Given the description of an element on the screen output the (x, y) to click on. 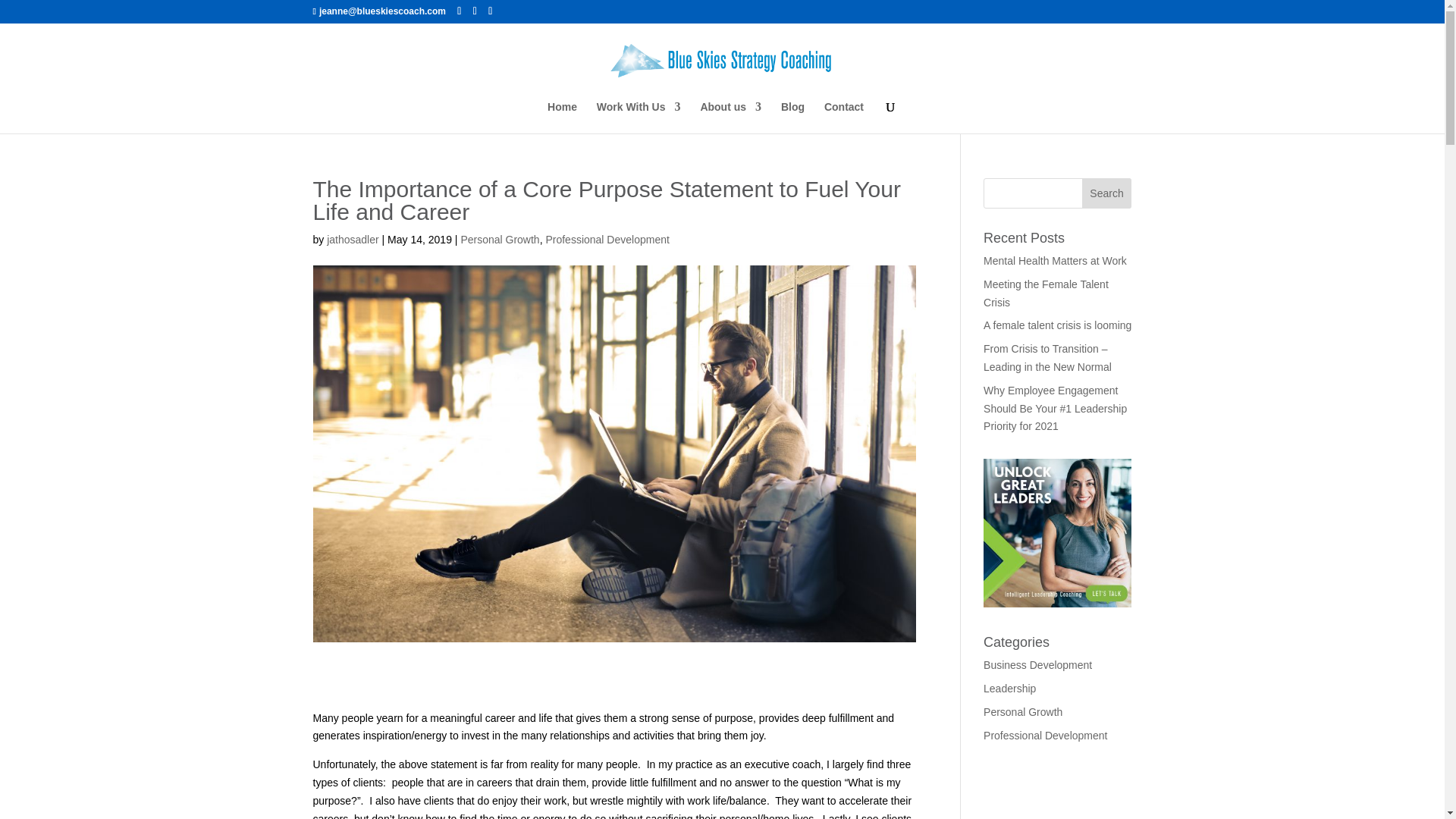
Work With Us (638, 117)
Search (1106, 193)
Personal Growth (499, 239)
jathosadler (352, 239)
Home (561, 117)
Professional Development (606, 239)
Posts by jathosadler (352, 239)
Contact (843, 117)
About us (730, 117)
